Given the description of an element on the screen output the (x, y) to click on. 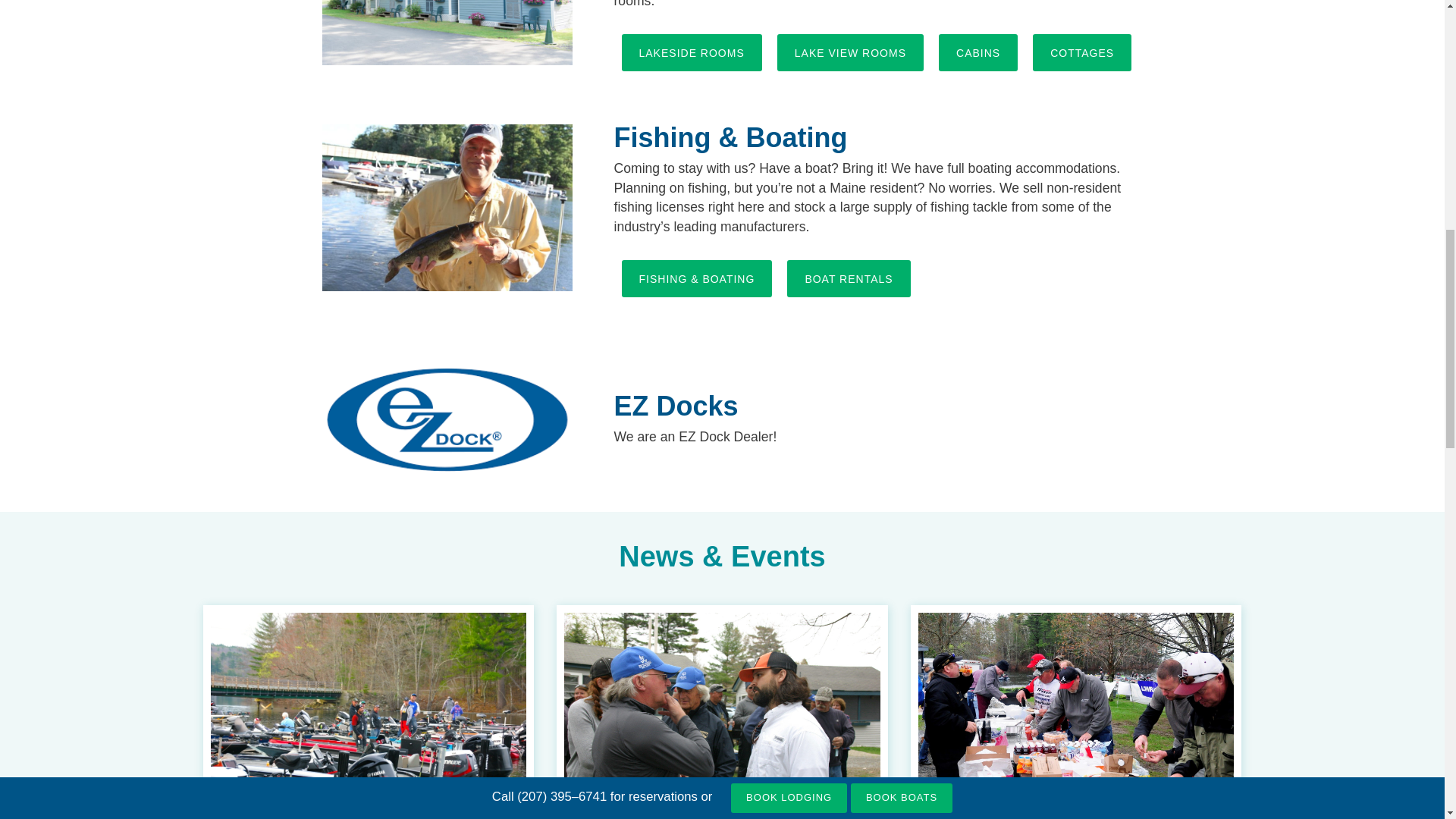
LAKESIDE ROOMS (691, 52)
CABINS (978, 52)
COTTAGES (1081, 52)
LAKE VIEW ROOMS (850, 52)
